Given the description of an element on the screen output the (x, y) to click on. 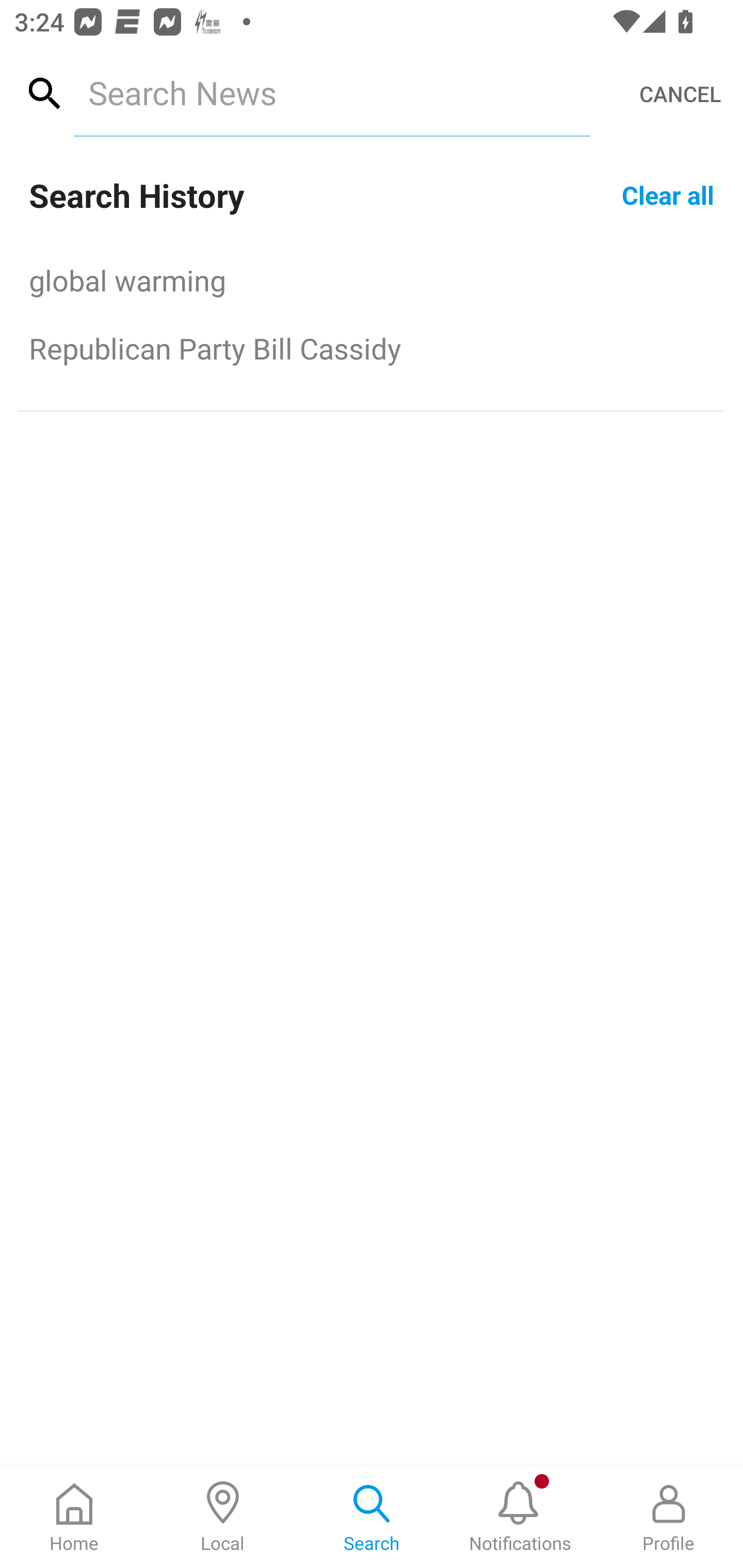
CANCEL (680, 93)
Search News (331, 92)
Clear all (667, 194)
global warming (371, 279)
Republican Party Bill Cassidy (371, 347)
Home (74, 1517)
Local (222, 1517)
Notifications, New notification Notifications (519, 1517)
Profile (668, 1517)
